Given the description of an element on the screen output the (x, y) to click on. 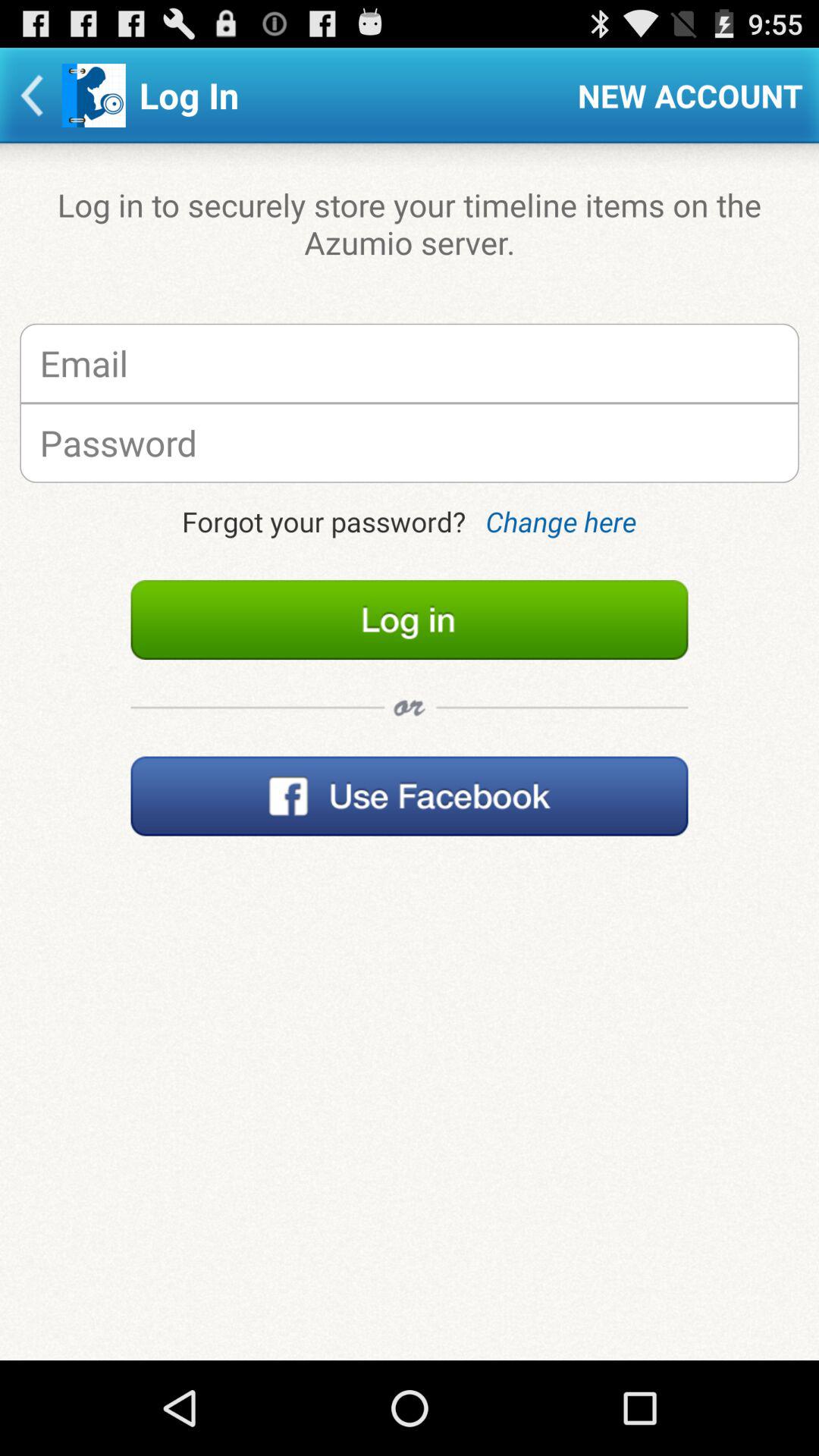
open facebook (409, 796)
